Given the description of an element on the screen output the (x, y) to click on. 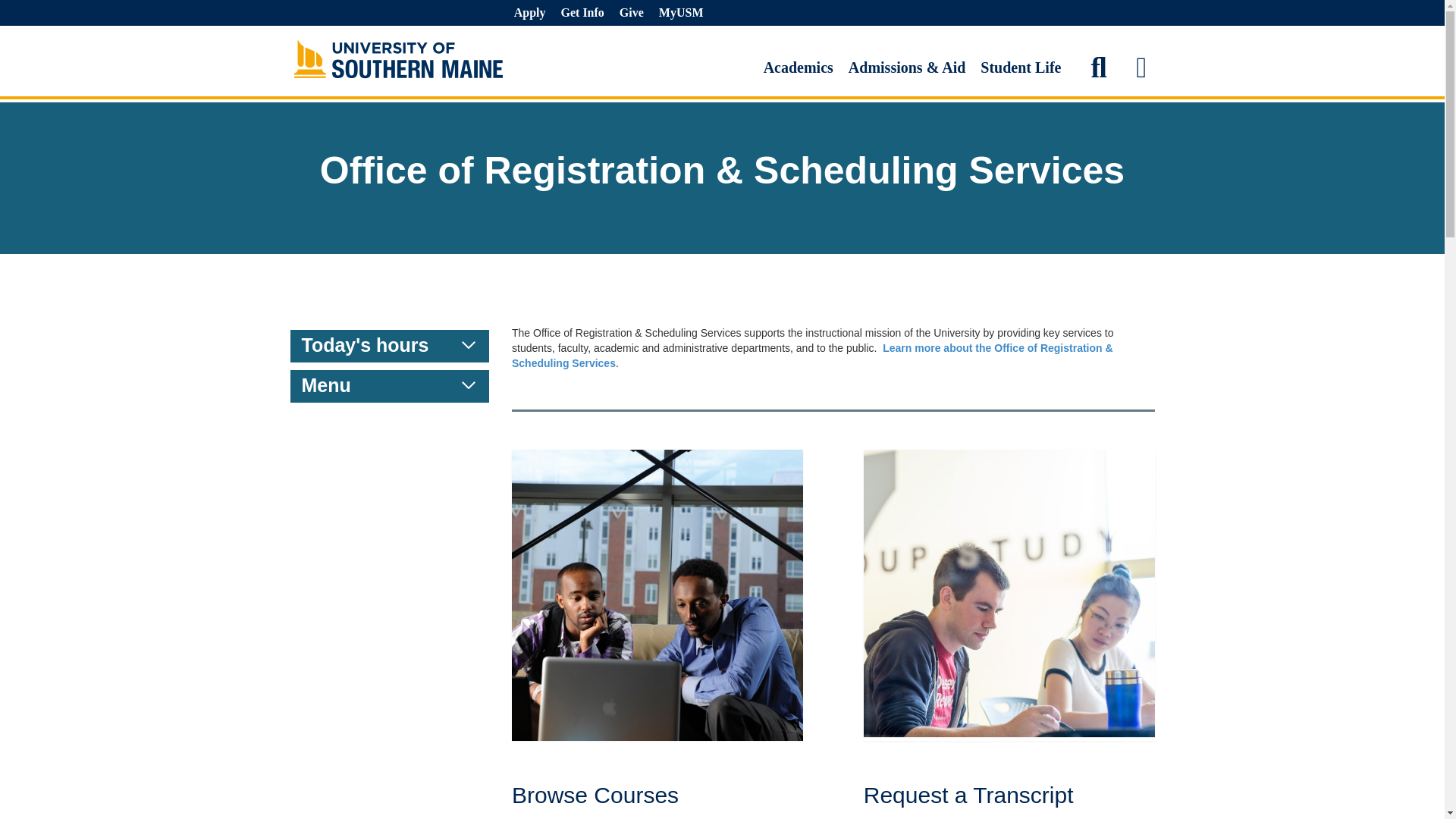
Give (630, 12)
Student Life (1020, 67)
Academics (798, 67)
Get Info (582, 12)
MyUSM (680, 12)
Apply (529, 12)
